Given the description of an element on the screen output the (x, y) to click on. 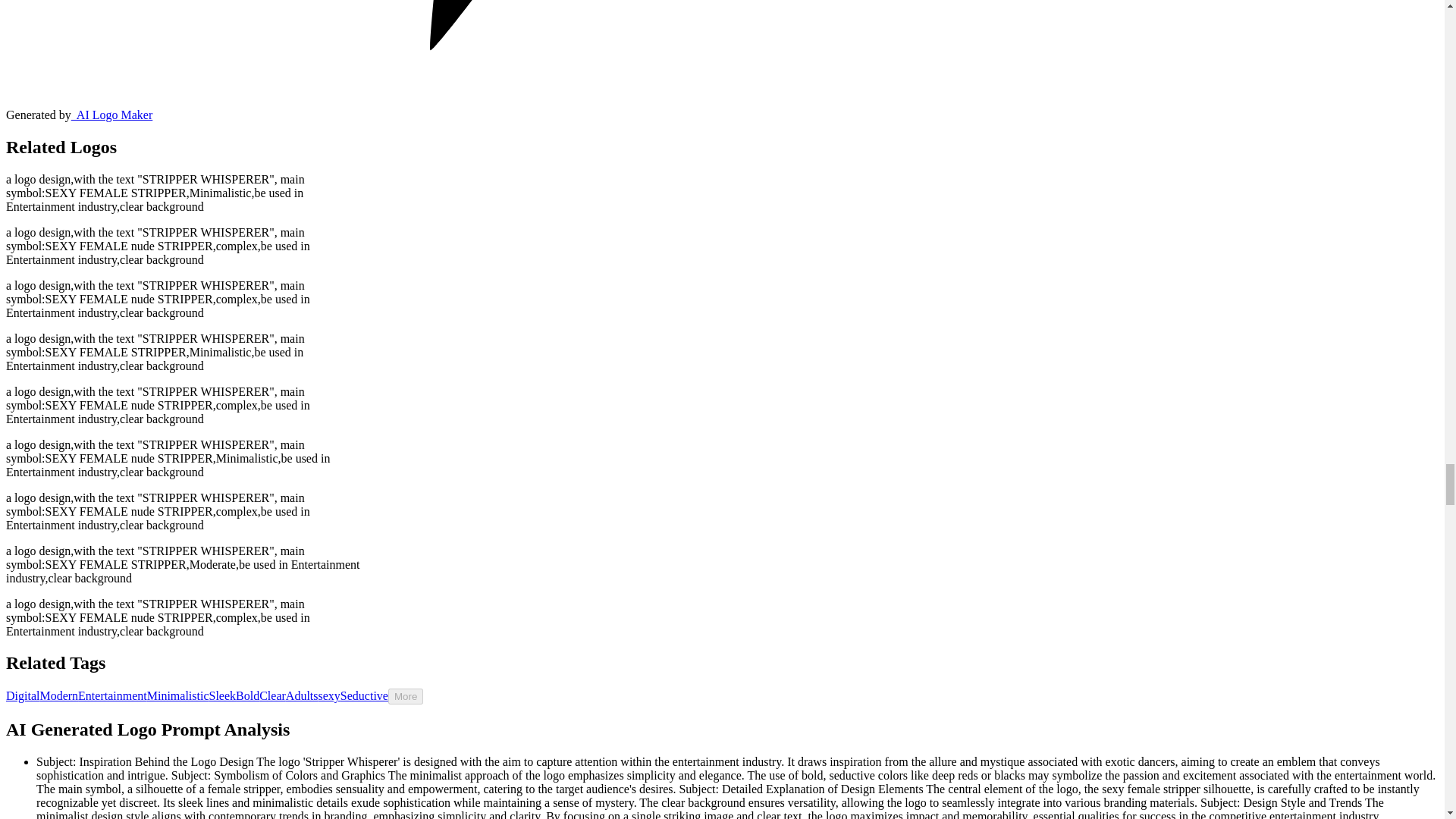
sexy (329, 695)
Modern (58, 695)
  AI Logo Maker (111, 114)
Digital (22, 695)
Sleek (222, 695)
More (405, 696)
Adults (301, 695)
Minimalistic (178, 695)
Entertainment (112, 695)
Clear (272, 695)
Bold (247, 695)
Seductive (364, 695)
